Given the description of an element on the screen output the (x, y) to click on. 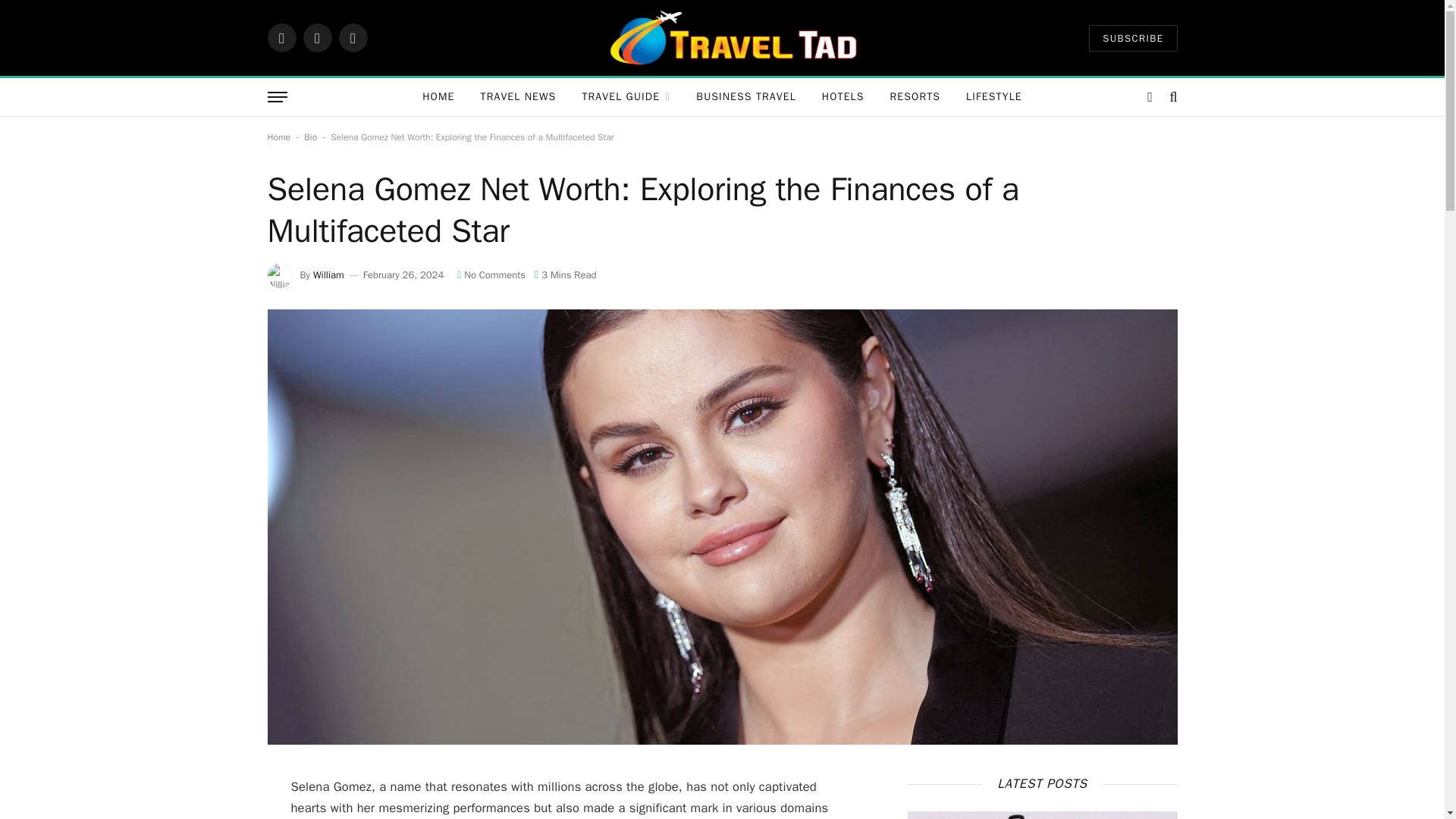
RESORTS (915, 96)
TravelTad (734, 38)
HOME (438, 96)
LIFESTYLE (994, 96)
TRAVEL GUIDE (625, 96)
Switch to Dark Design - easier on eyes. (1149, 97)
BUSINESS TRAVEL (745, 96)
Facebook (280, 37)
SUBSCRIBE (1132, 37)
Instagram (351, 37)
Posts by William (328, 274)
HOTELS (843, 96)
TRAVEL NEWS (518, 96)
